Given the description of an element on the screen output the (x, y) to click on. 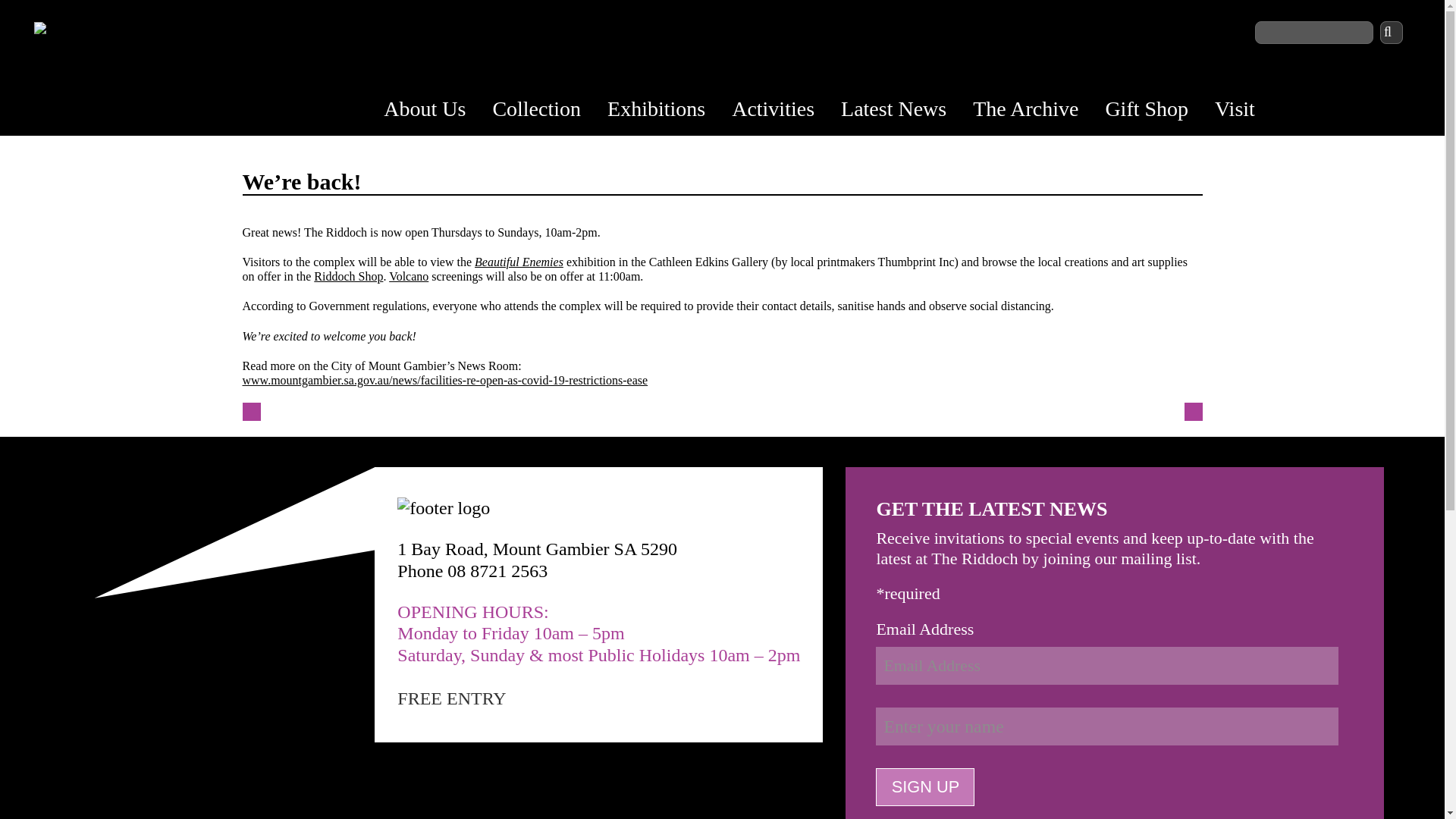
Collection (537, 110)
Latest News (894, 110)
Visit (1236, 110)
Beautiful Enemies (518, 261)
Exhibitions (657, 110)
Submit (1391, 32)
Activities (774, 110)
The Archive (1026, 110)
Submit (1391, 32)
About Us (426, 110)
